Given the description of an element on the screen output the (x, y) to click on. 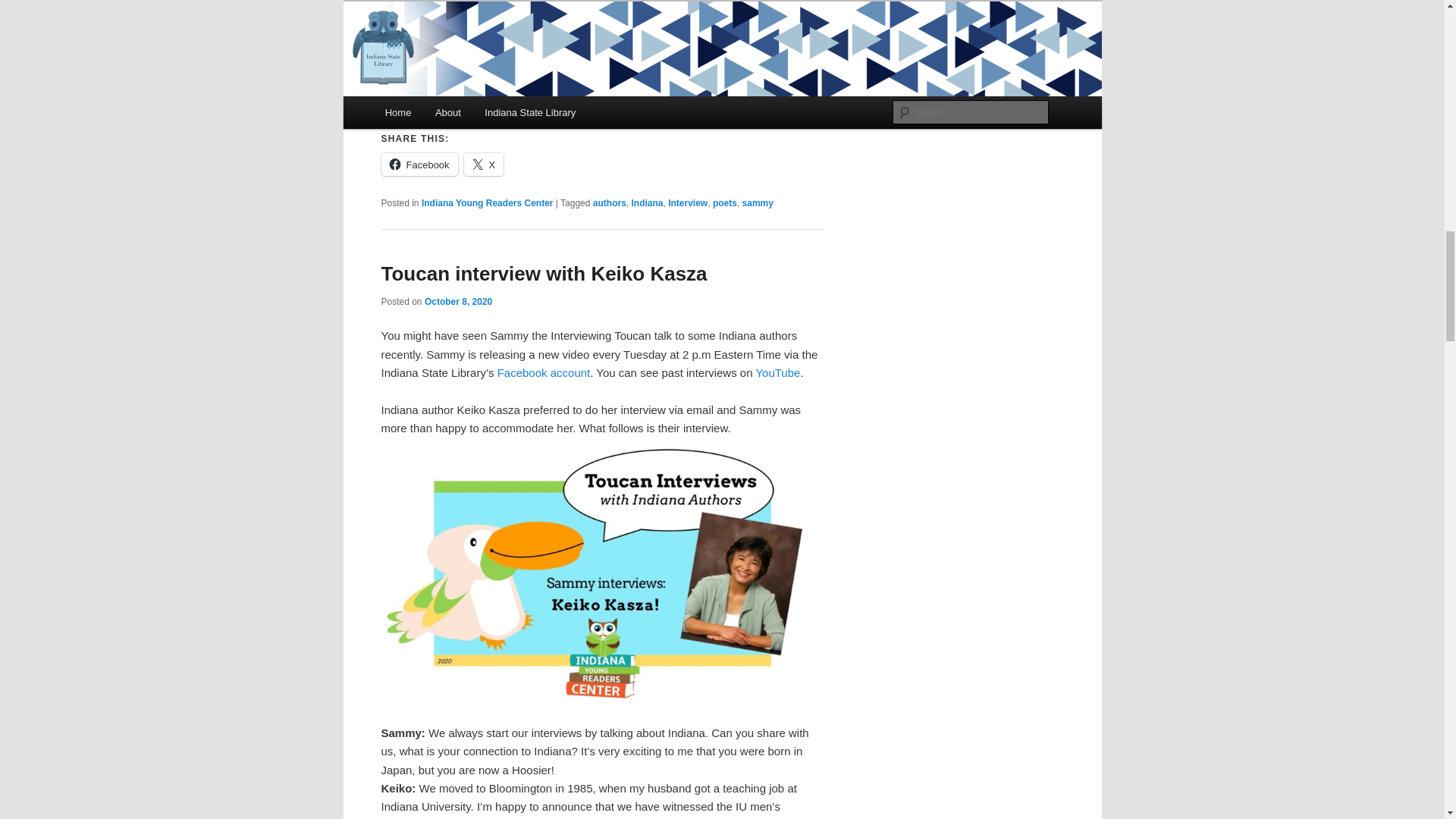
sammy (757, 203)
October 8, 2020 (458, 301)
Facebook (418, 164)
Indiana (646, 203)
Facebook account (544, 372)
X (483, 164)
Indiana Young Readers Center (487, 203)
Click to share on X (483, 164)
Toucan interview with Keiko Kasza (543, 273)
YouTube (777, 372)
9:11 am (458, 301)
authors (609, 203)
Interview (687, 203)
Click to share on Facebook (418, 164)
poets (724, 203)
